Given the description of an element on the screen output the (x, y) to click on. 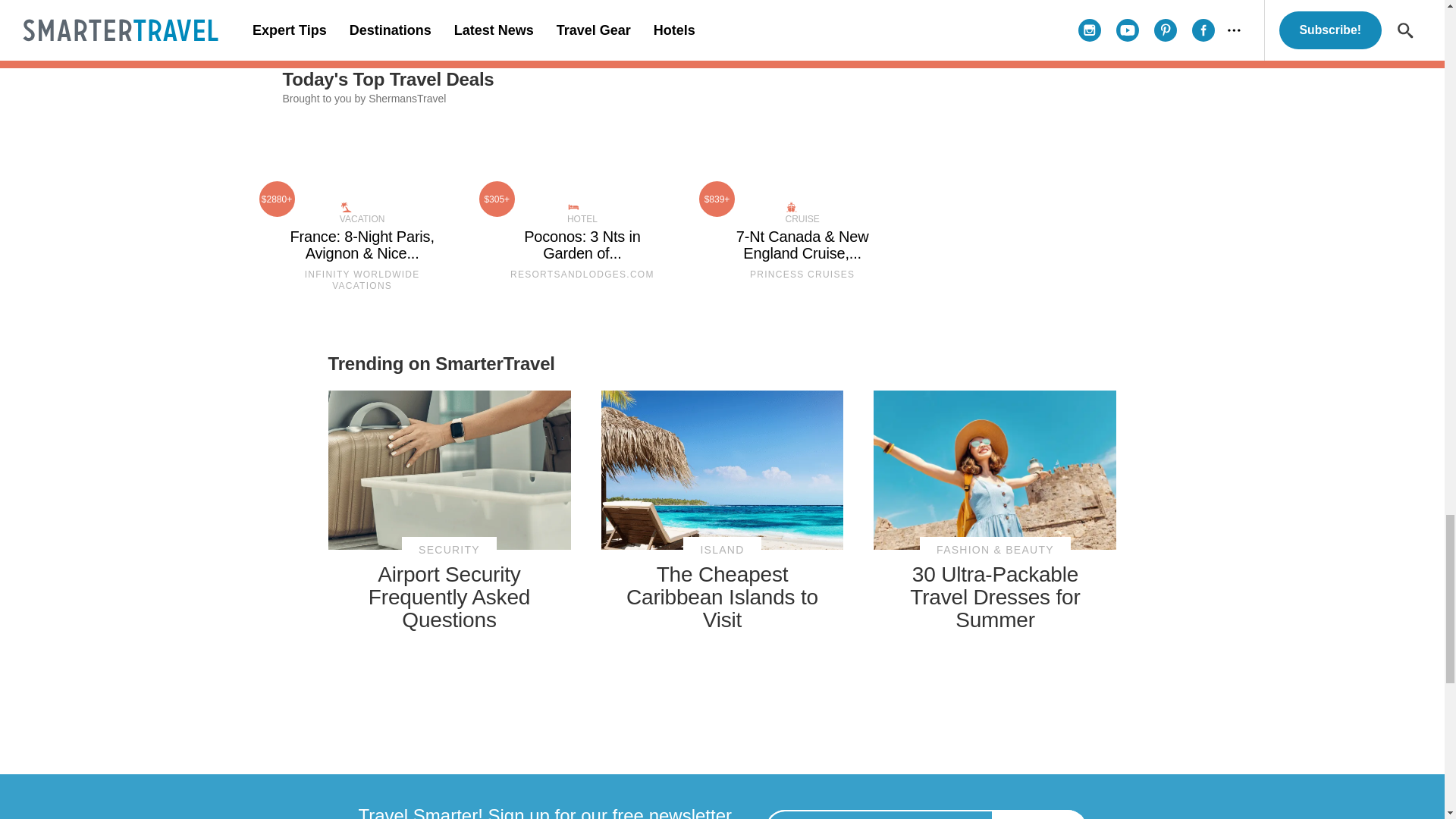
View all posts in Island (721, 550)
View all posts in Security (448, 550)
